Given the description of an element on the screen output the (x, y) to click on. 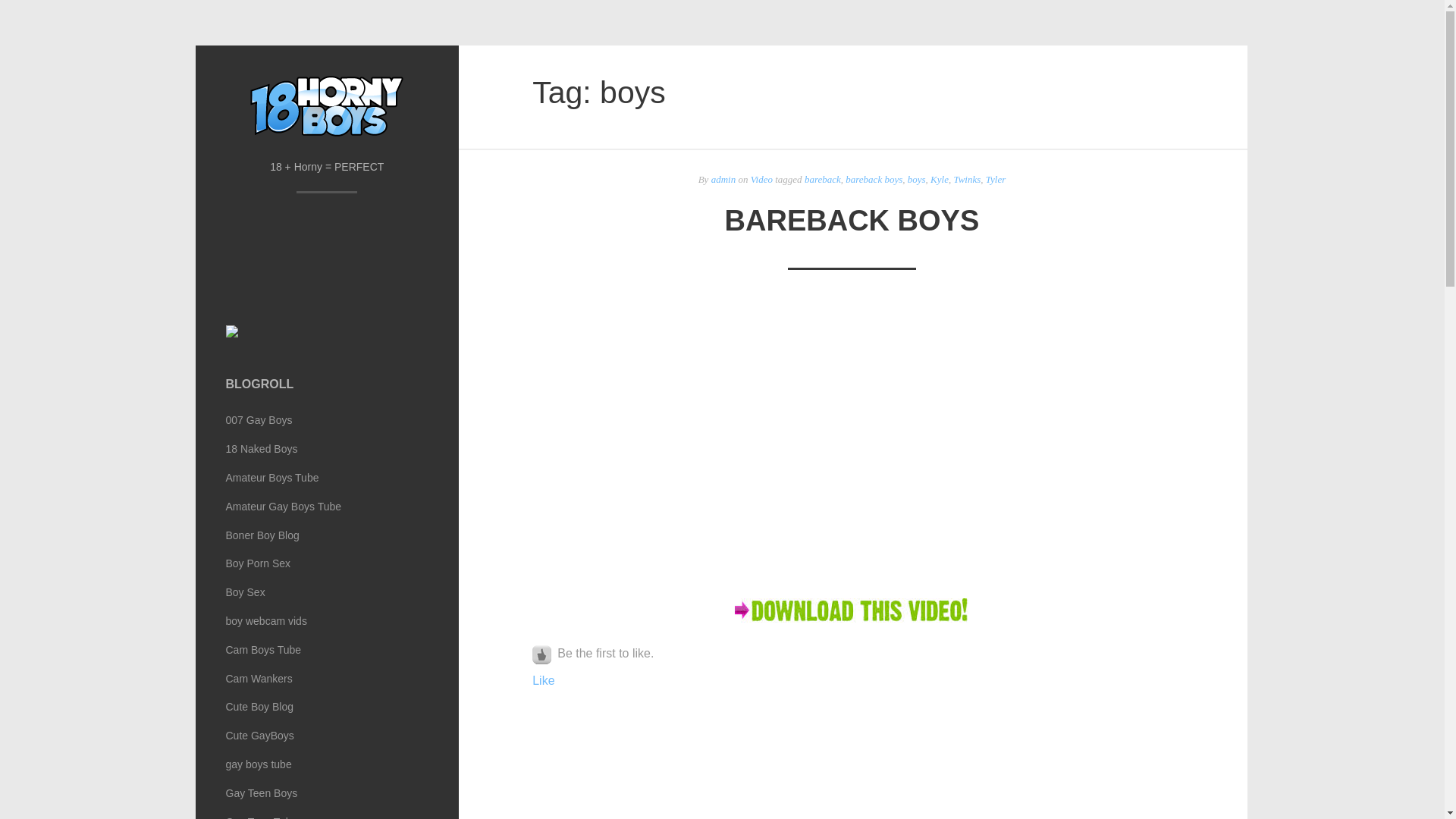
BAREBACK BOYS Element type: text (851, 220)
Boy Porn Sex Element type: text (327, 563)
Boner Boy Blog Element type: text (327, 534)
18 Naked Boys Element type: text (327, 448)
boy webcam vids Element type: text (327, 620)
Cute GayBoys Element type: text (327, 735)
Cute Boy Blog Element type: text (327, 707)
Cam Wankers Element type: text (327, 678)
Like Element type: text (543, 680)
bareback Element type: text (822, 179)
Amateur Boys Tube Element type: text (327, 477)
Gay Teen Boys Element type: text (327, 792)
gay boys tube Element type: text (327, 763)
bareback boys Element type: text (873, 179)
Tyler Element type: text (995, 179)
admin Element type: text (723, 179)
Twinks Element type: text (966, 179)
boys Element type: text (916, 179)
Kyle Element type: text (939, 179)
007 Gay Boys Element type: text (327, 419)
Amateur Gay Boys Tube Element type: text (327, 506)
Video Element type: text (761, 179)
Boy Sex Element type: text (327, 591)
Cam Boys Tube Element type: text (327, 649)
